Given the description of an element on the screen output the (x, y) to click on. 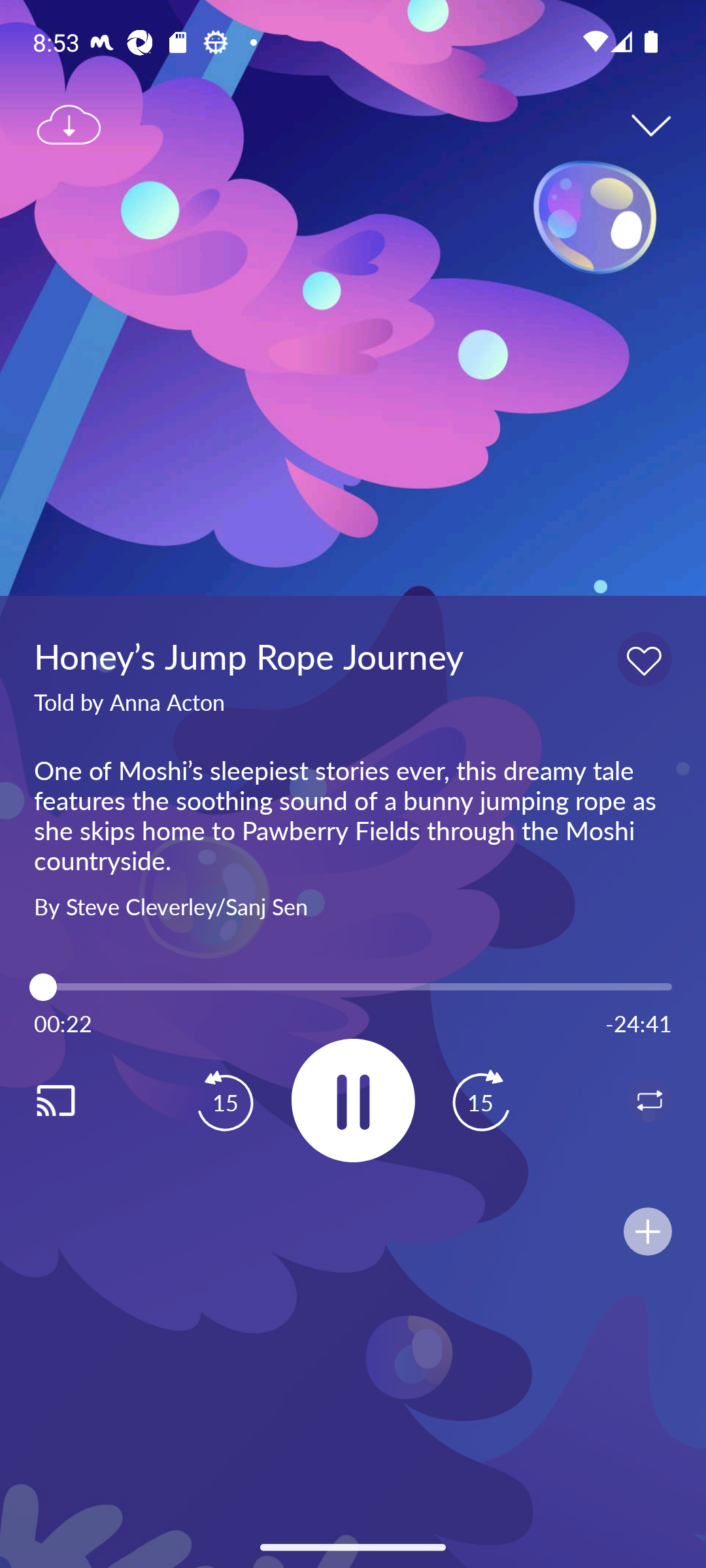
21.0 (352, 986)
Cast. Disconnected (76, 1100)
